Given the description of an element on the screen output the (x, y) to click on. 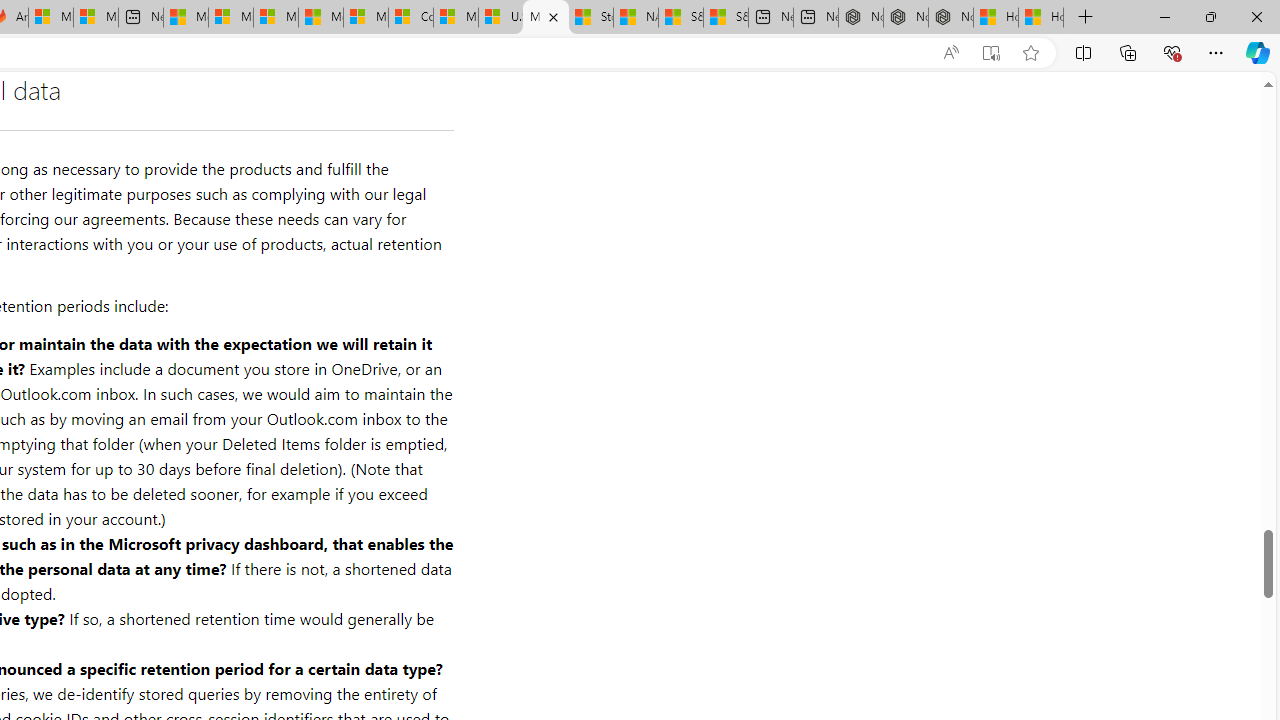
Enter Immersive Reader (F9) (991, 53)
Microsoft account | Home (275, 17)
